Given the description of an element on the screen output the (x, y) to click on. 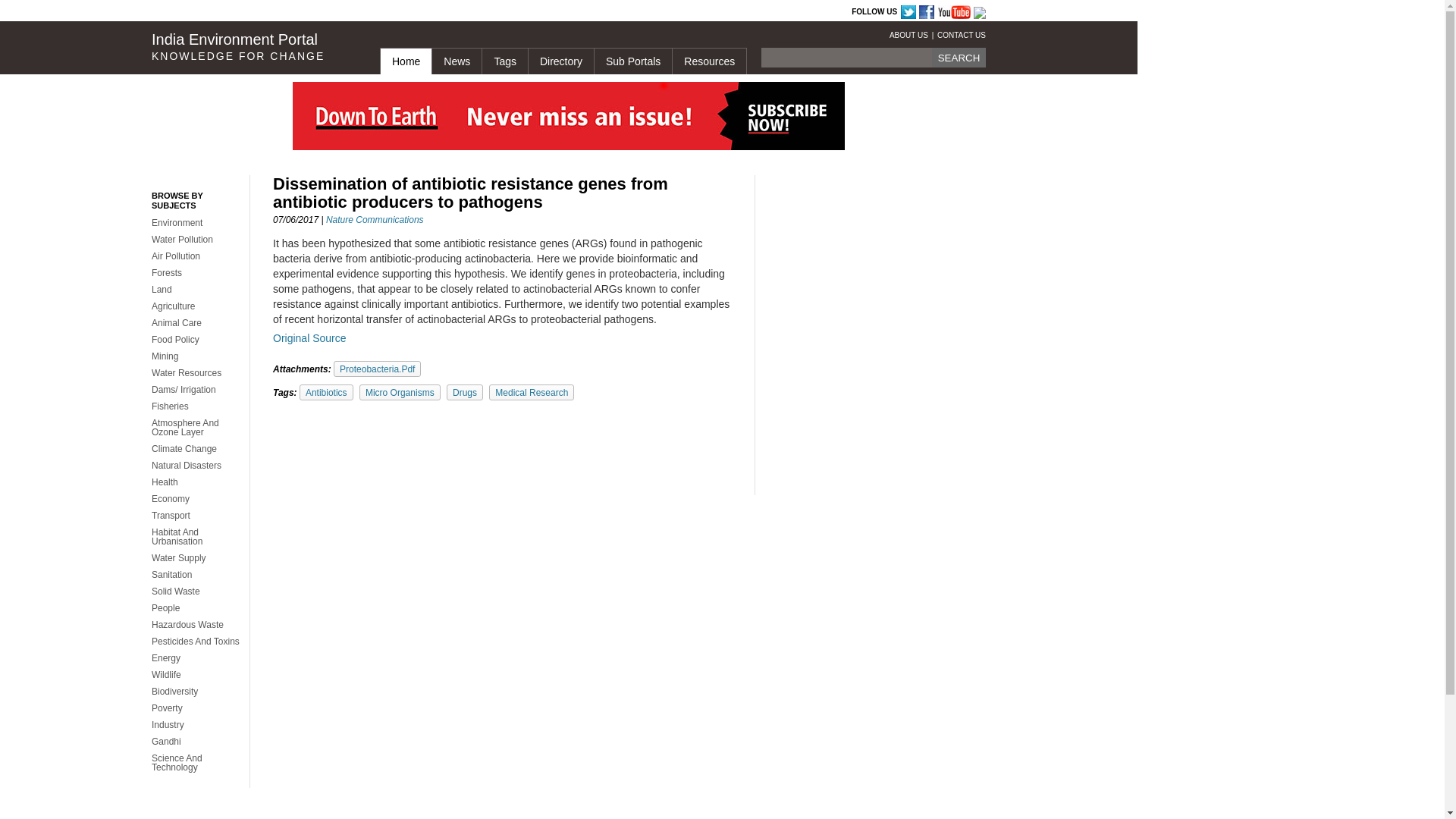
Gobar Times (368, 11)
India Environment Portal (540, 11)
Resources (708, 60)
Down to Earth (311, 11)
Renewable Energy (631, 11)
CSE Store (500, 11)
Rain Water Harvesting (418, 11)
Home (405, 60)
India Environment Portal KNOWLEDGE FOR CHANGE (253, 46)
News (455, 60)
